Given the description of an element on the screen output the (x, y) to click on. 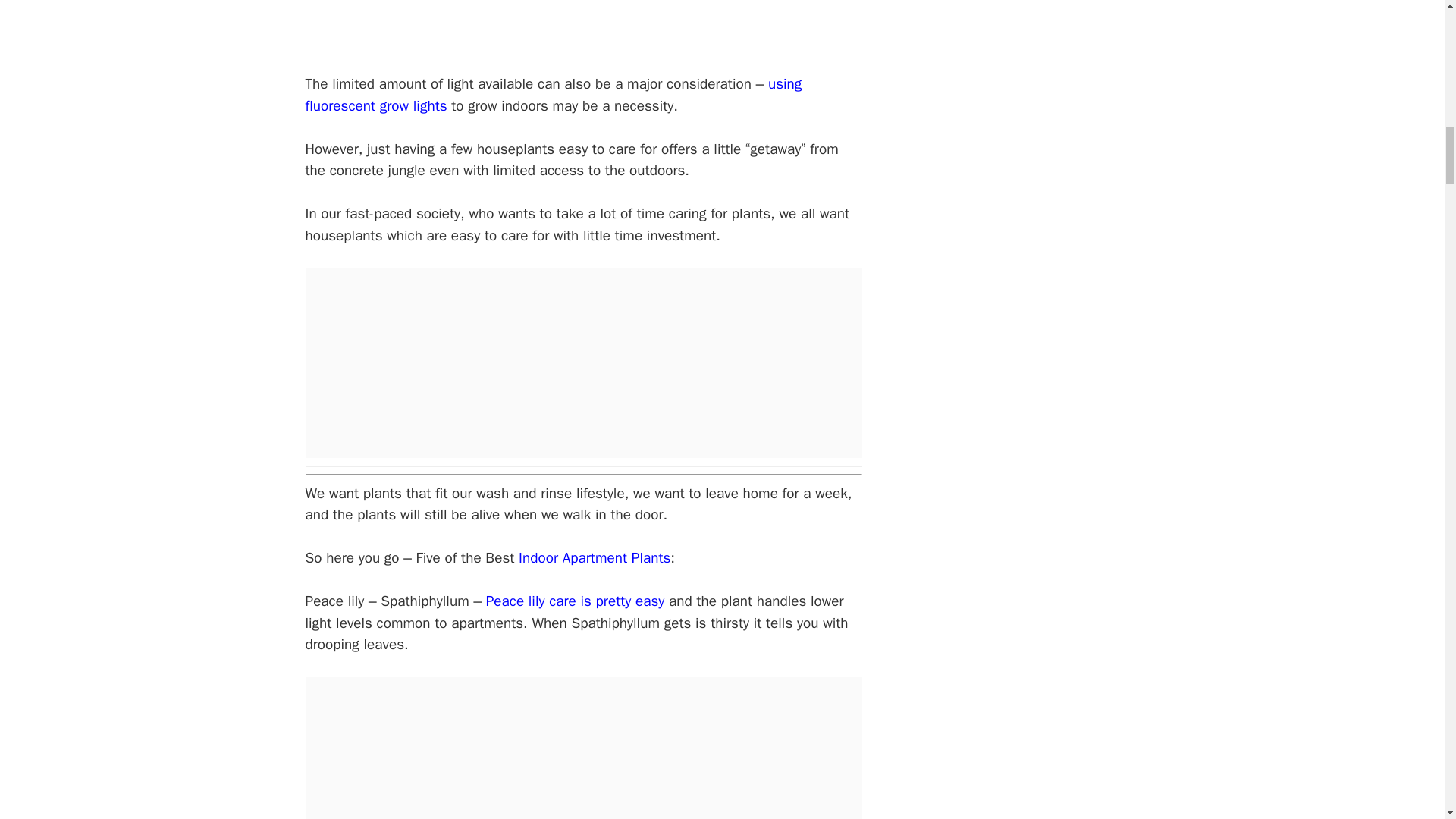
Indoor Apartment Plants (593, 557)
using fluorescent grow lights (553, 95)
Peace lily care is pretty easy (575, 601)
